Given the description of an element on the screen output the (x, y) to click on. 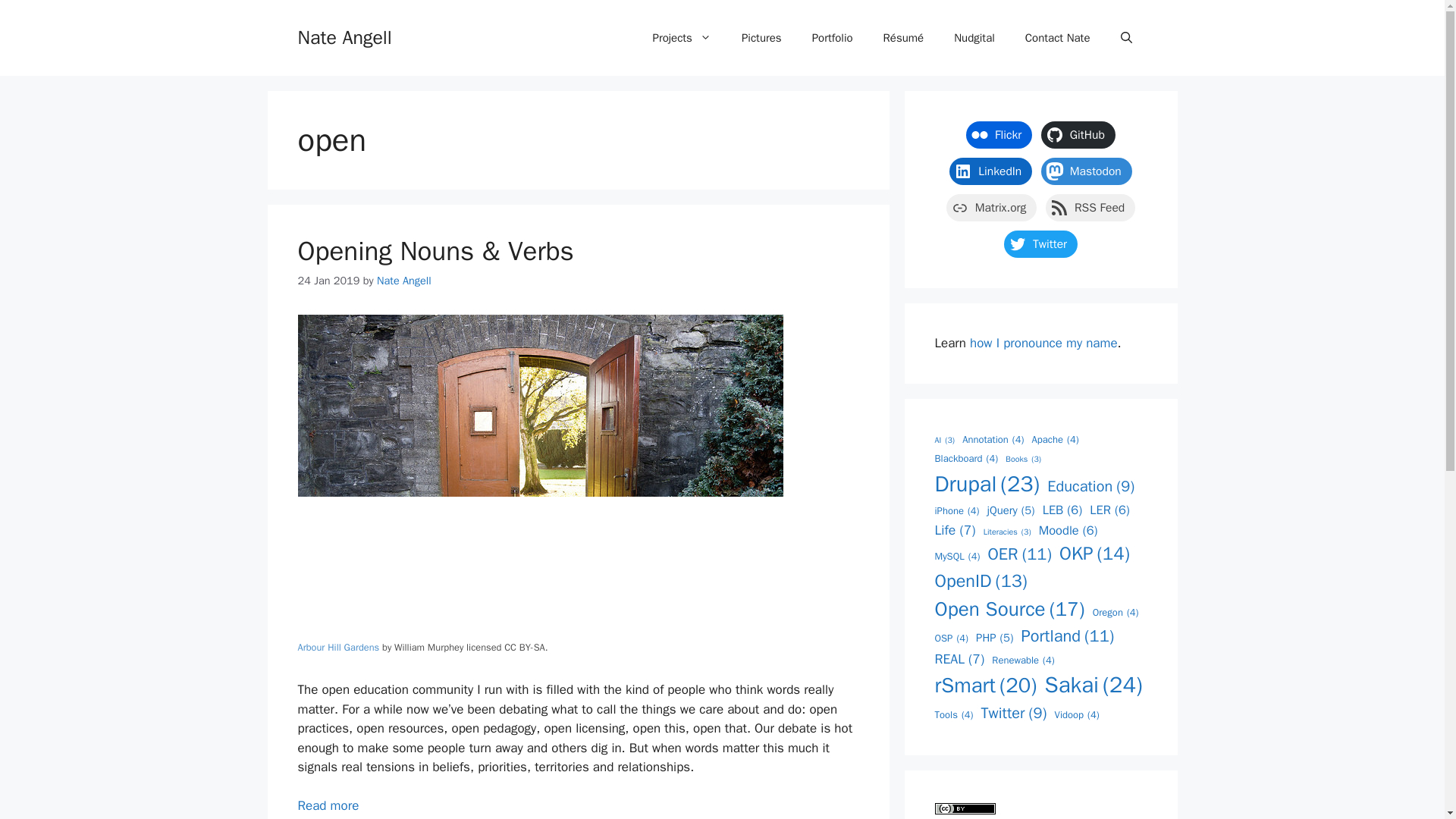
Nudgital (974, 37)
Portfolio (831, 37)
Arbour Hill Gardens (337, 647)
Nate Angell (403, 280)
Contact Nate (1057, 37)
Pictures (761, 37)
get in touch with Nate (1057, 37)
View all posts by Nate Angell (403, 280)
visit Nudgital online (974, 37)
Read more (327, 805)
